Given the description of an element on the screen output the (x, y) to click on. 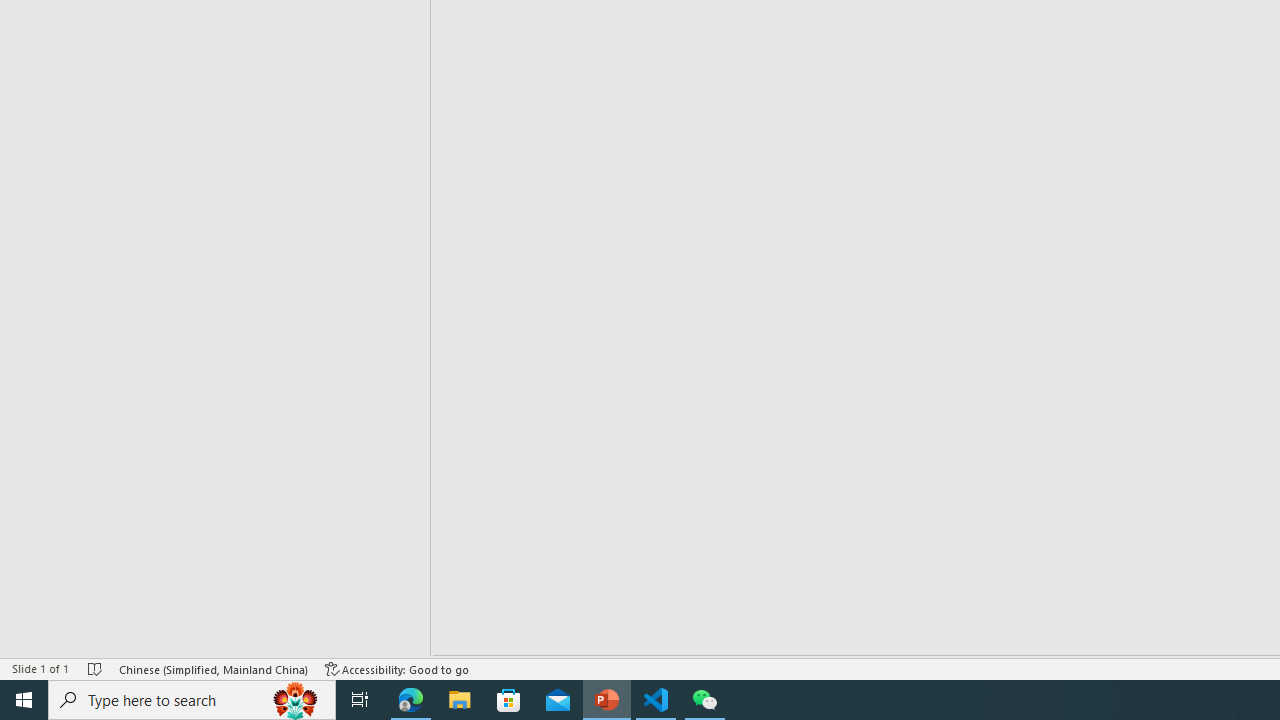
Accessibility Checker Accessibility: Good to go (397, 668)
